Given the description of an element on the screen output the (x, y) to click on. 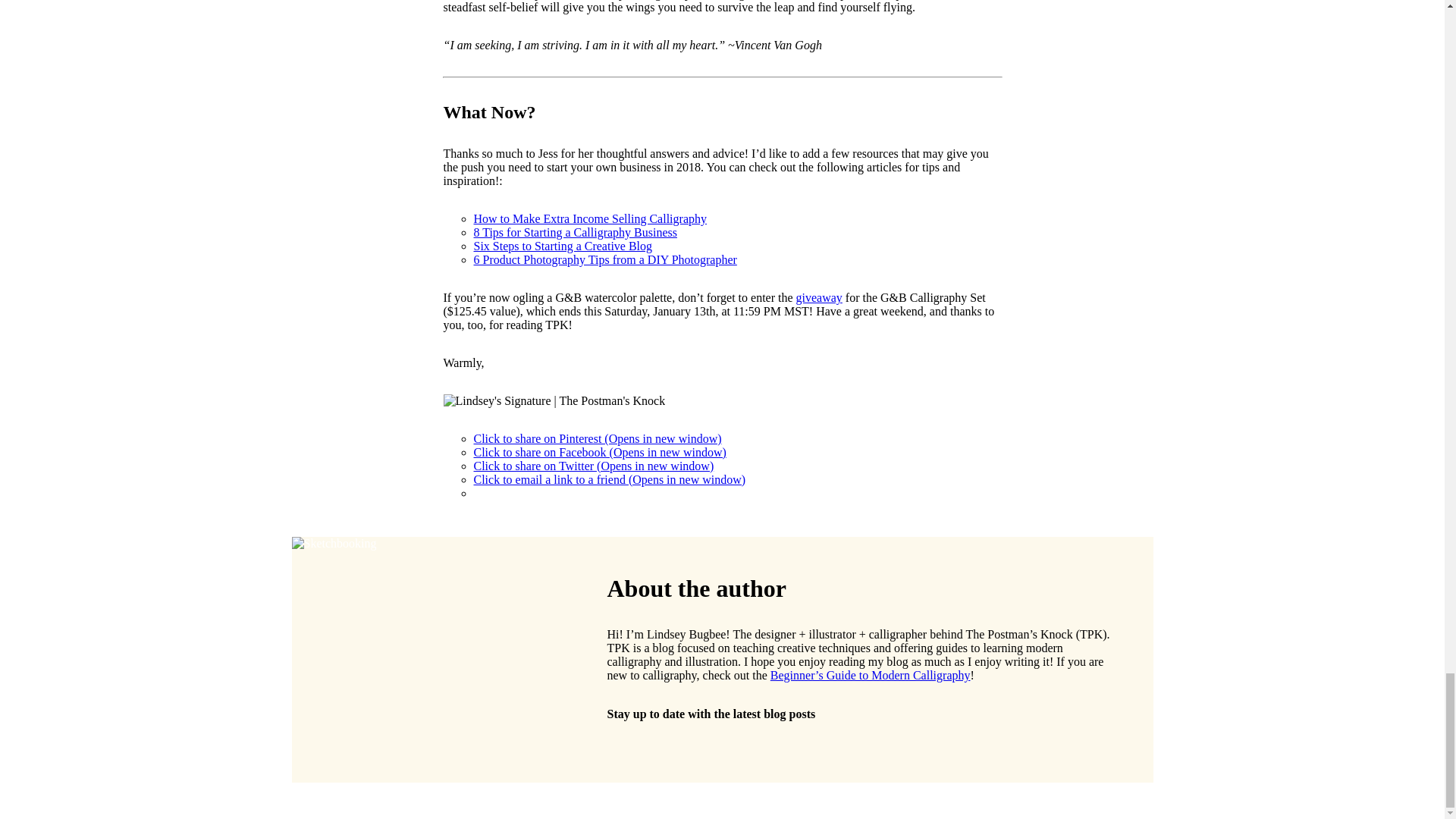
Click to share on Facebook (599, 451)
Click to email a link to a friend (609, 479)
Click to share on Twitter (593, 465)
Click to share on Pinterest (596, 438)
